Given the description of an element on the screen output the (x, y) to click on. 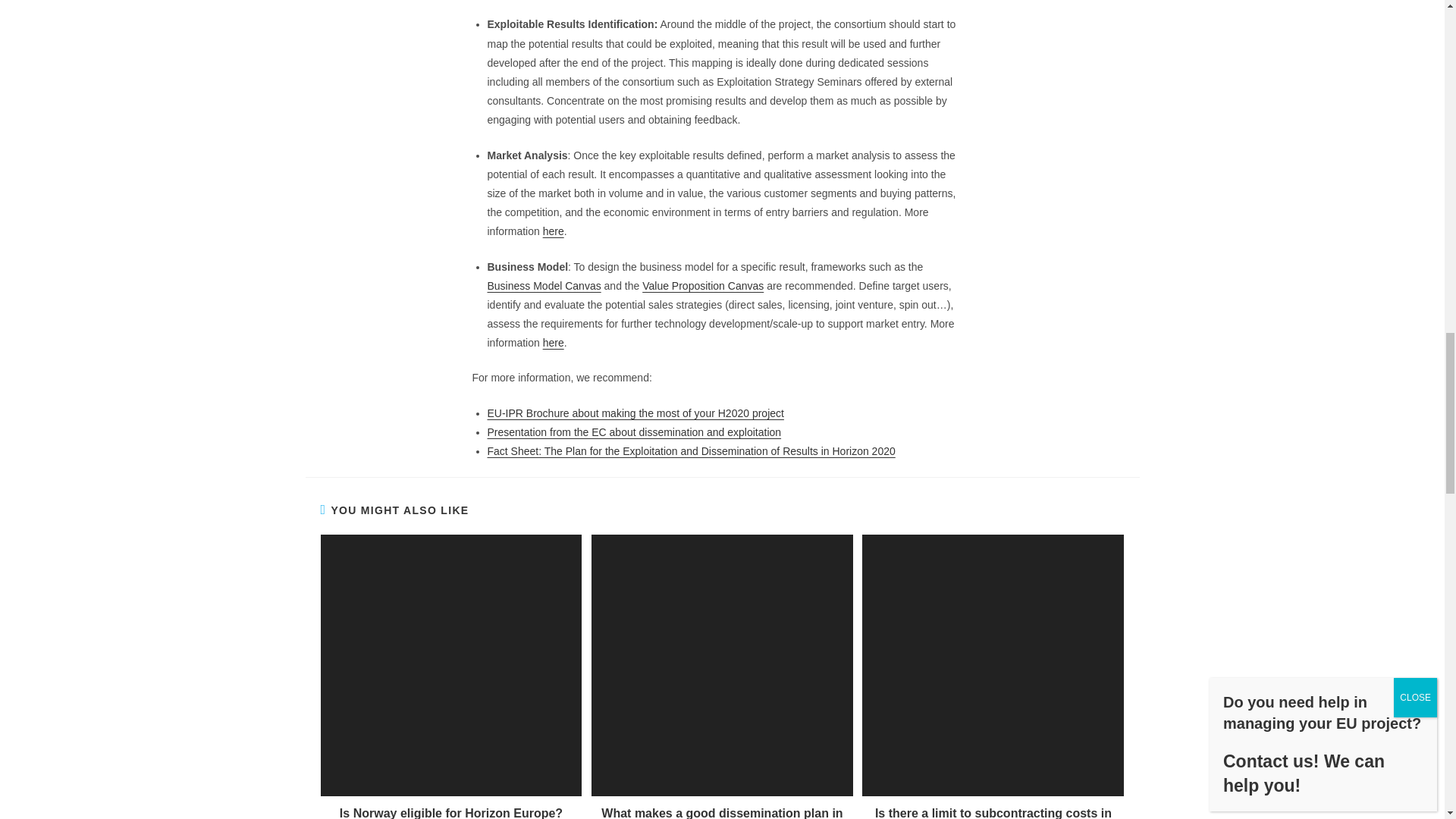
here (553, 231)
Value Proposition Canvas (702, 285)
here (553, 342)
EU-IPR Brochure about making the most of your H2020 project (634, 413)
Business Model Canvas (542, 285)
